Given the description of an element on the screen output the (x, y) to click on. 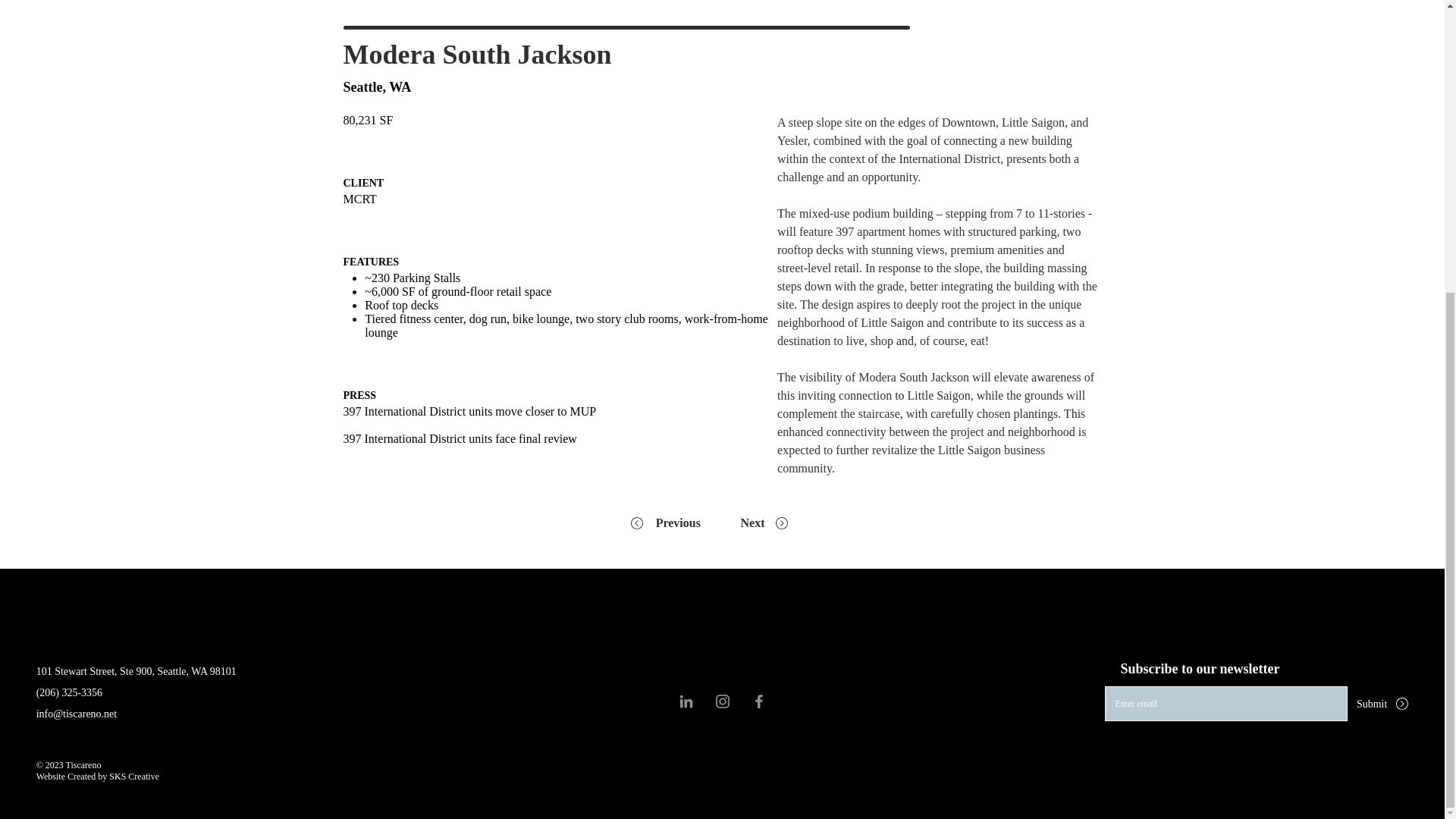
Website Created by SKS Creative (97, 776)
397 International District units move closer to MUP (469, 410)
397 International District units face final review (459, 438)
